Given the description of an element on the screen output the (x, y) to click on. 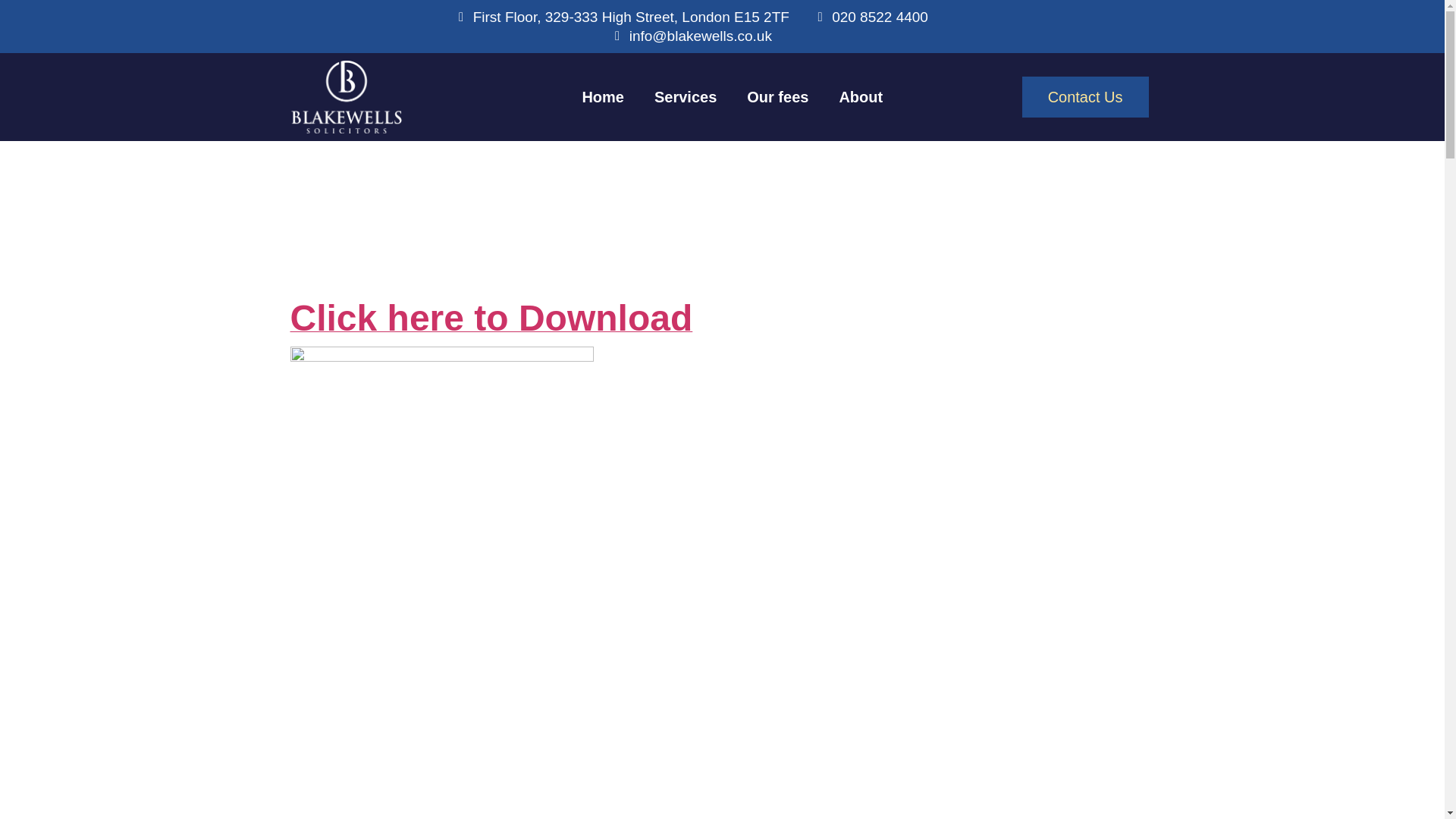
Our fees (778, 96)
Home (602, 96)
Services (685, 96)
020 8522 4400 (870, 16)
Contact Us (1085, 96)
About (861, 96)
Click here to Download (491, 325)
